Given the description of an element on the screen output the (x, y) to click on. 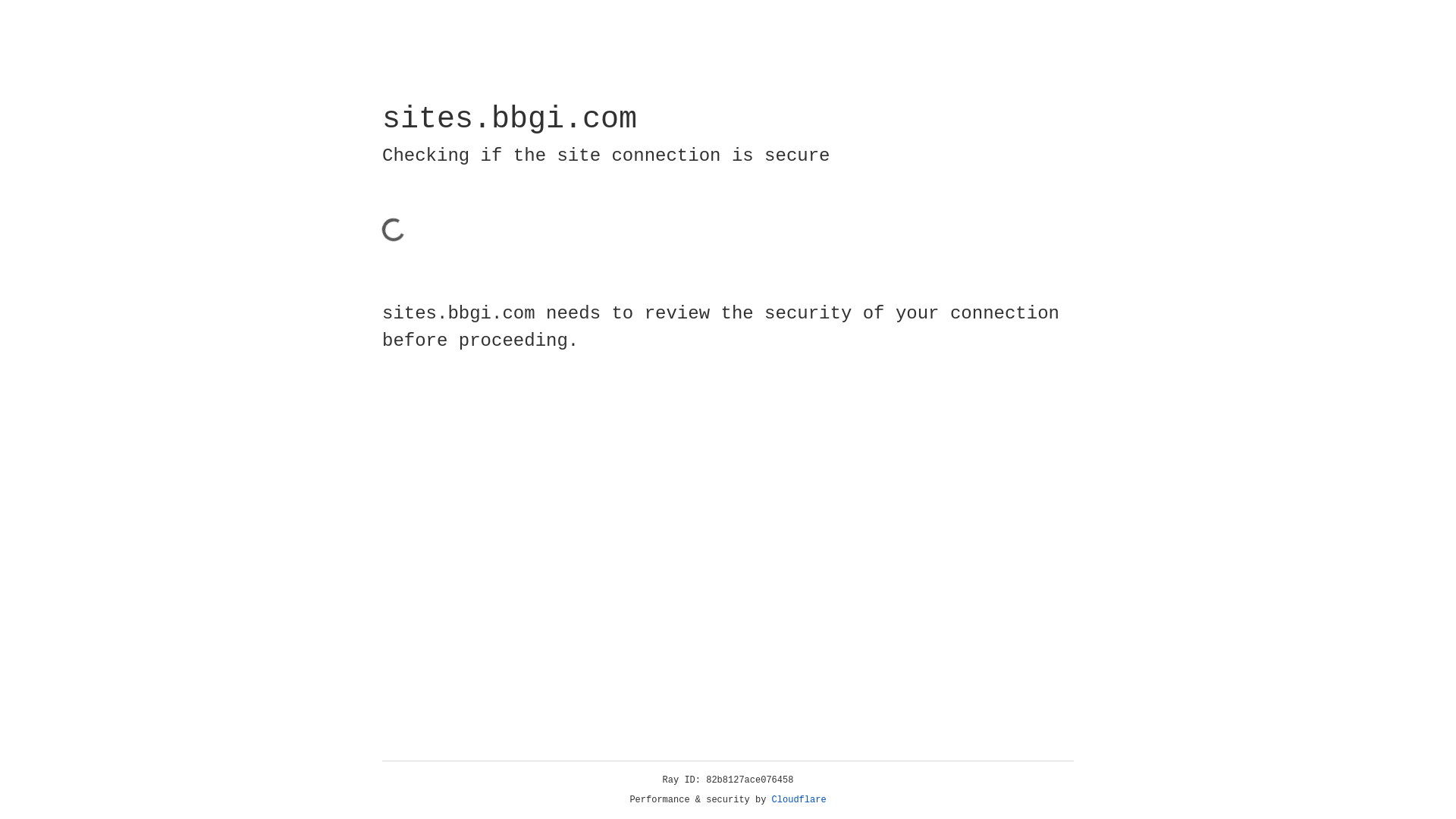
Cloudflare Element type: text (798, 799)
